Given the description of an element on the screen output the (x, y) to click on. 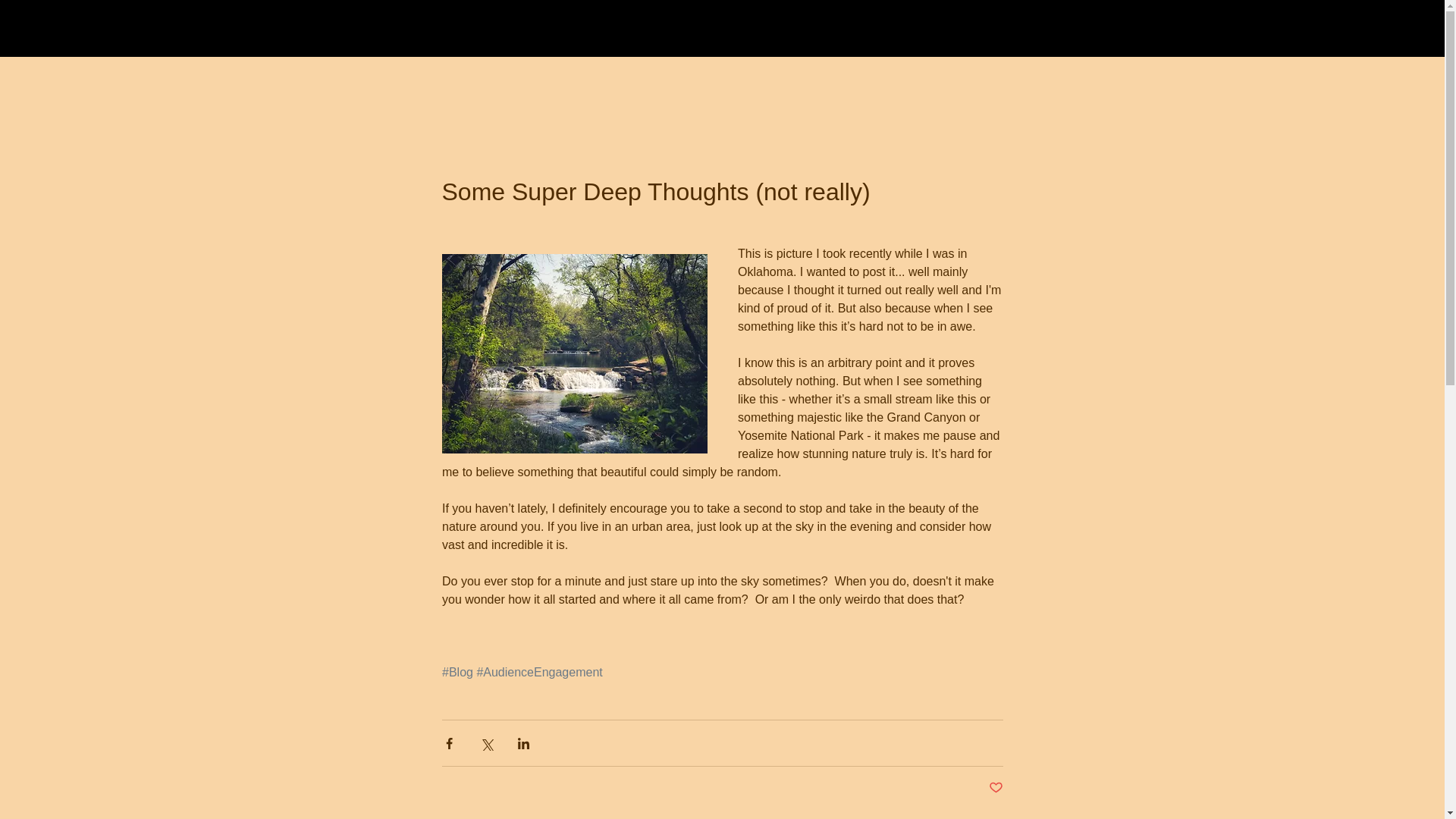
Post not marked as liked (995, 788)
